Given the description of an element on the screen output the (x, y) to click on. 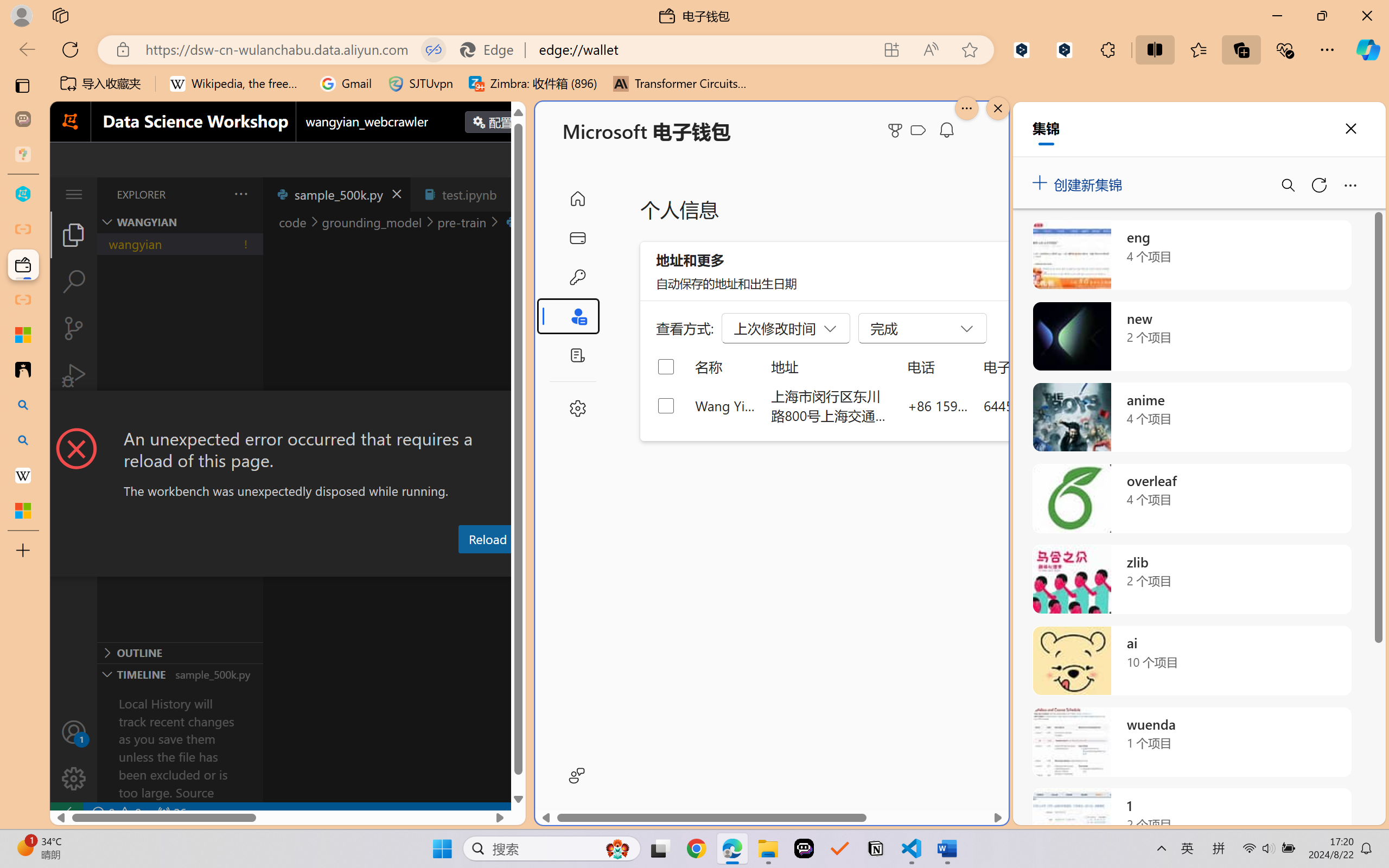
Explorer actions (212, 194)
Search (Ctrl+Shift+F) (73, 281)
Class: menubar compact overflow-menu-only (73, 194)
Edge (492, 49)
Source Control (Ctrl+Shift+G) (73, 328)
SJTUvpn (419, 83)
Explorer Section: wangyian (179, 221)
